Given the description of an element on the screen output the (x, y) to click on. 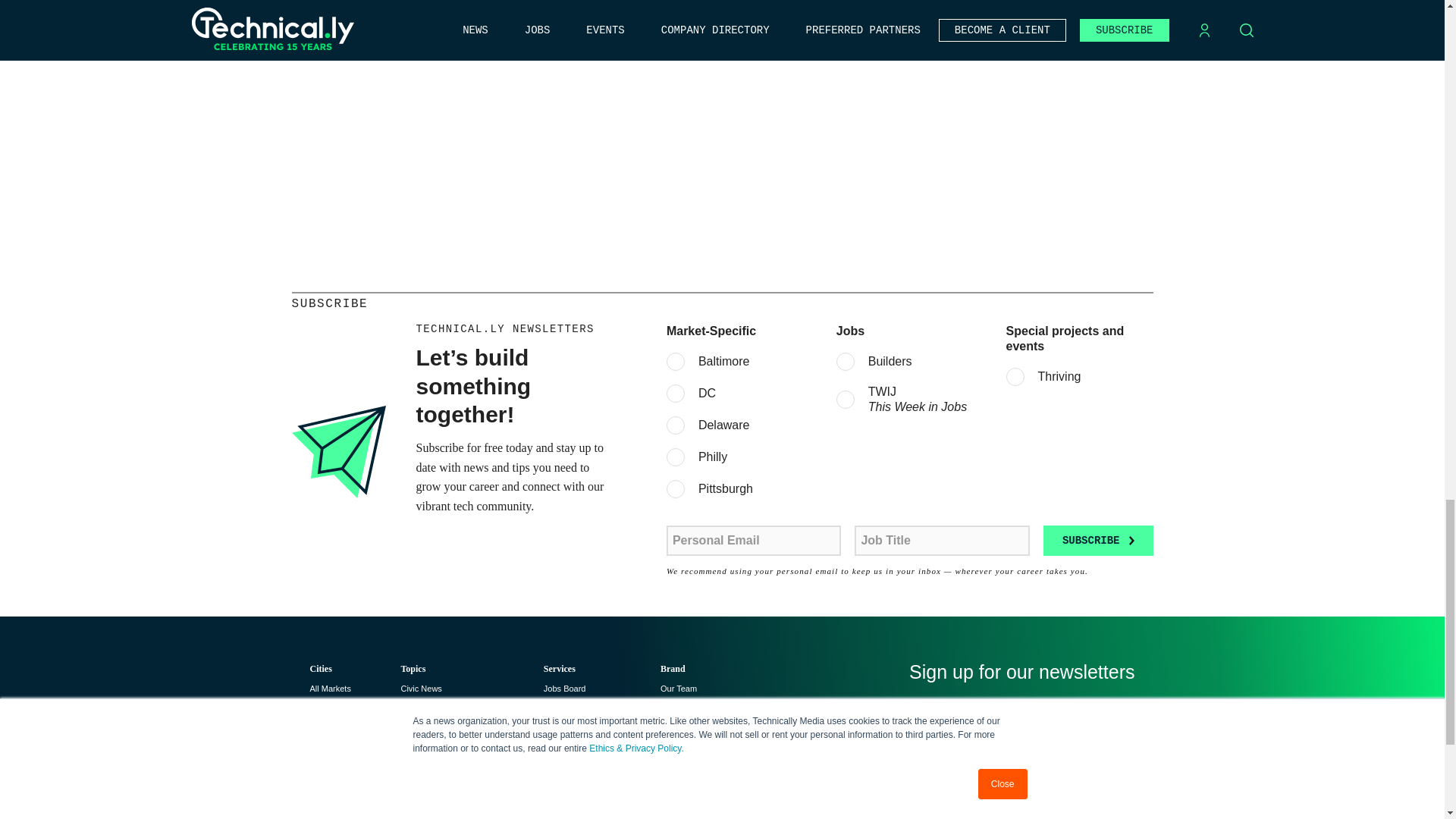
Share to LinkedIn (880, 10)
Share to Twitter (909, 10)
Share to Facebook (937, 10)
